Given the description of an element on the screen output the (x, y) to click on. 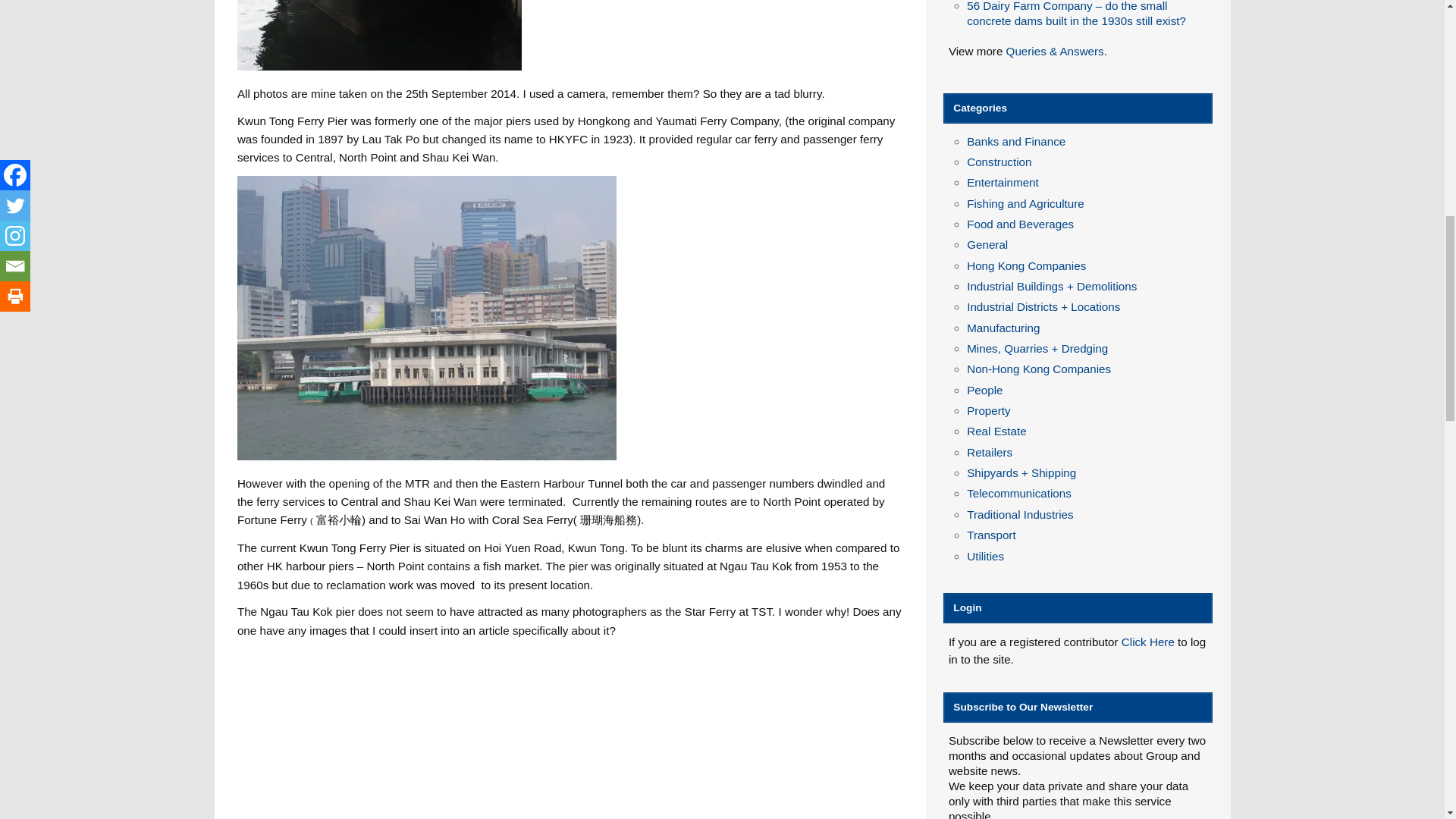
View all posts filed under Banks and Finance (1015, 141)
